Given the description of an element on the screen output the (x, y) to click on. 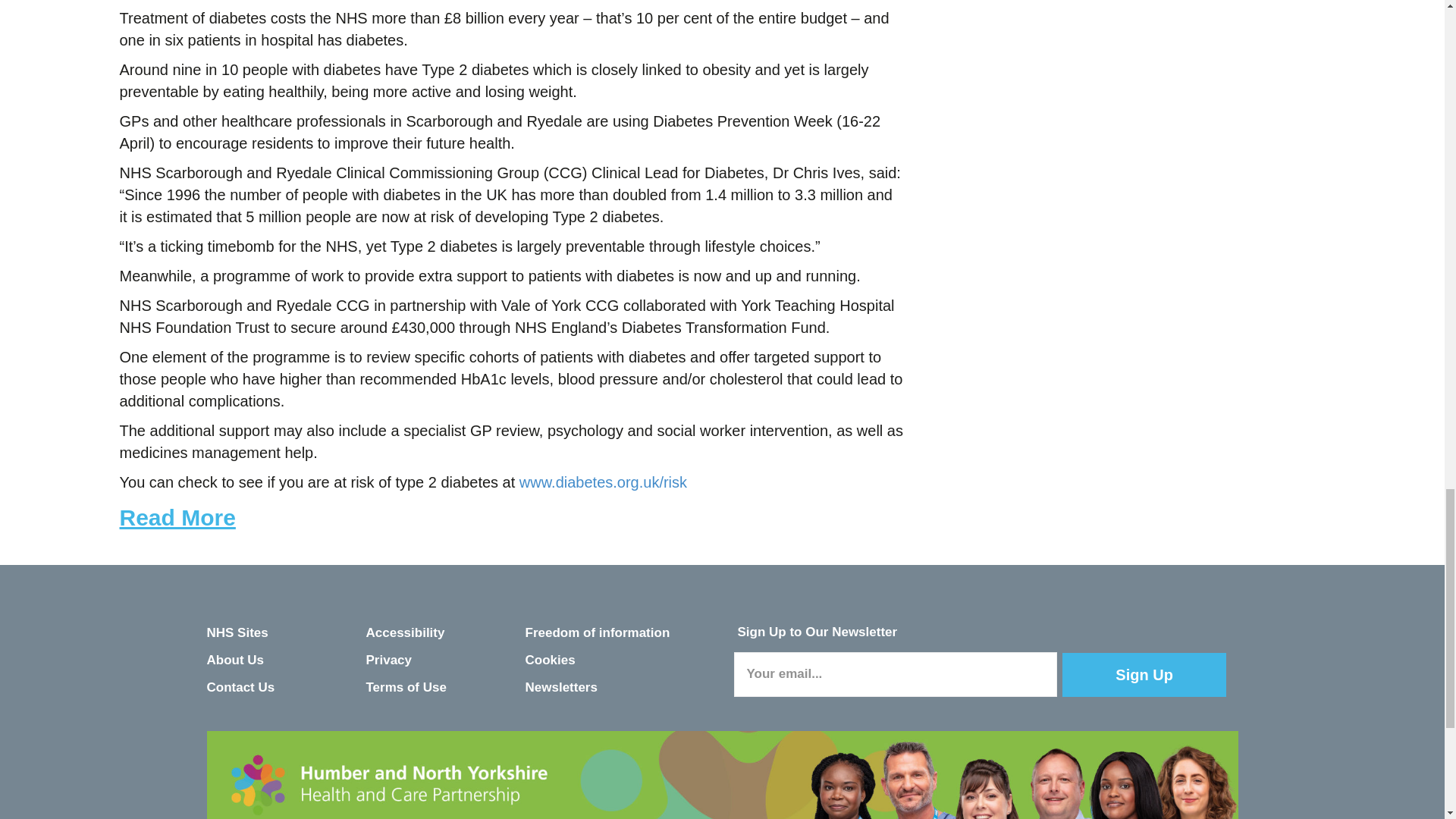
11444 HNY Recruit web -2 (721, 775)
